Given the description of an element on the screen output the (x, y) to click on. 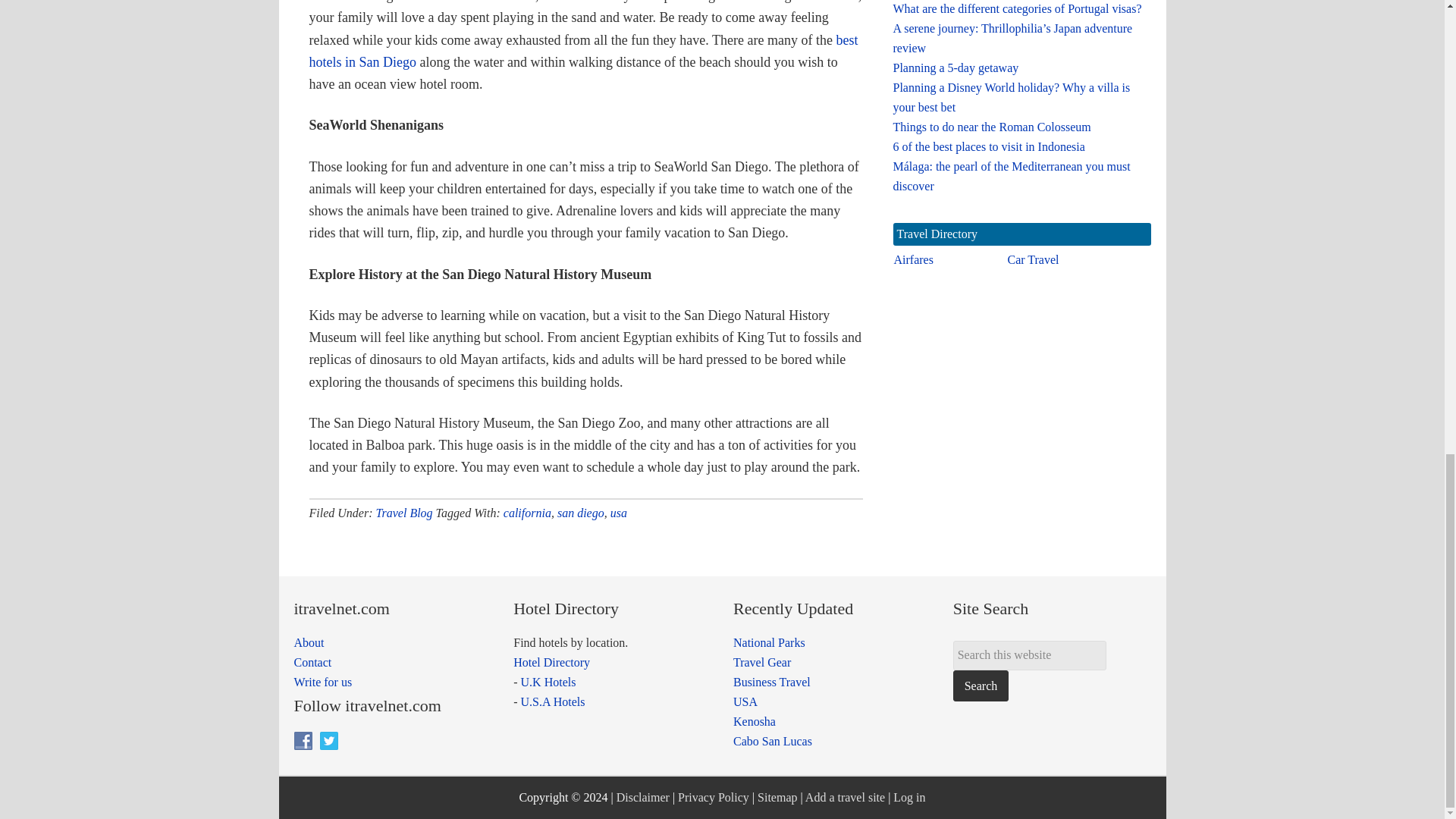
What are the different categories of Portugal visas? (1017, 8)
Search (981, 685)
Travel Blog (403, 512)
Follow Us on Twitter (328, 741)
california (527, 512)
san diego (580, 512)
Car Travel (1032, 259)
6 of the best places to visit in Indonesia (988, 146)
Planning a 5-day getaway (956, 67)
Search (981, 685)
Things to do near the Roman Colosseum (991, 126)
Follow Us on Facebook (303, 741)
usa (618, 512)
Airfares (913, 259)
